Given the description of an element on the screen output the (x, y) to click on. 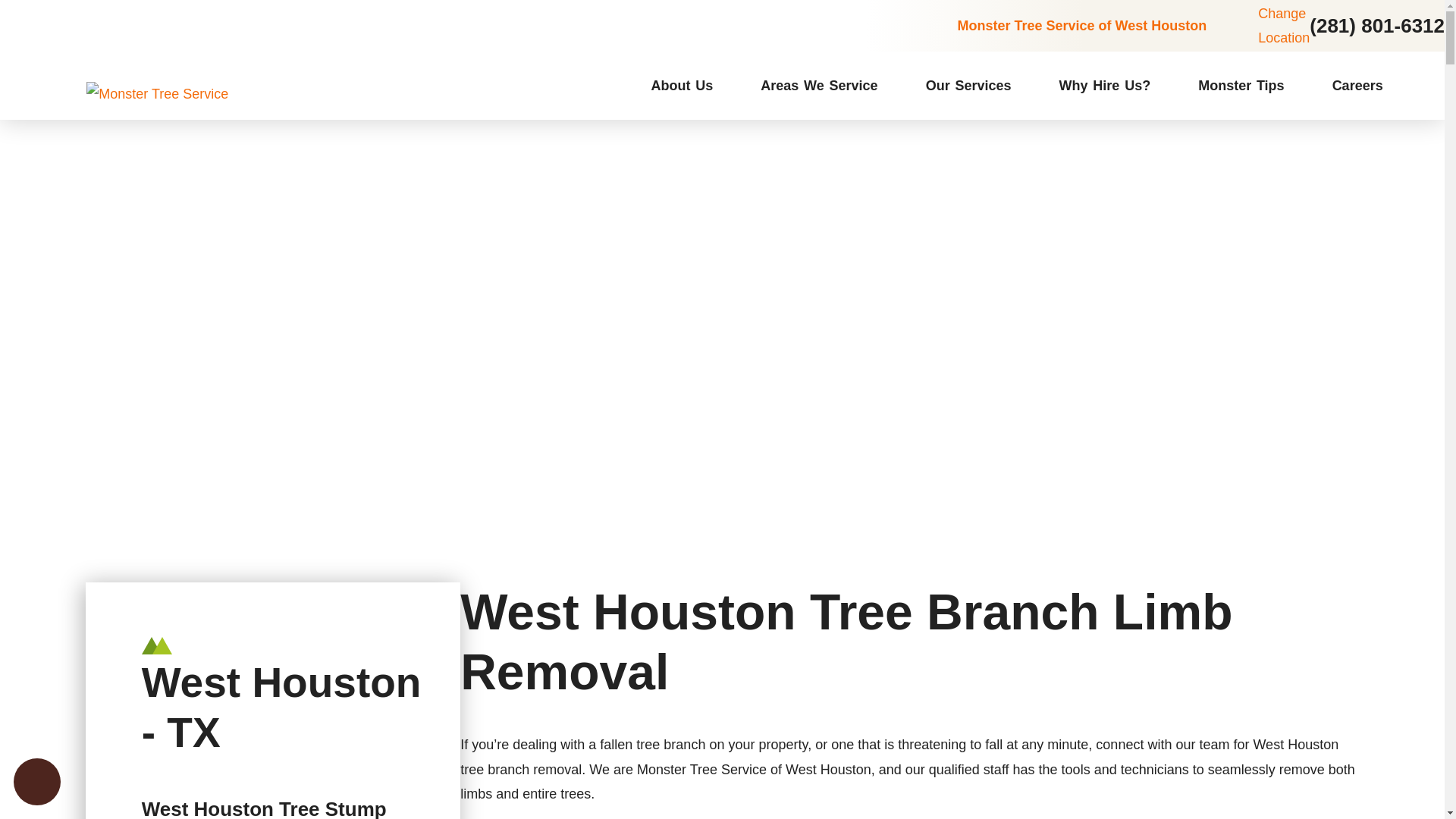
Areas We Service (818, 85)
Monster Tree Service of West Houston (1081, 25)
Open the accessibility options menu (37, 781)
Change Location (1257, 25)
Monster Tree Service (199, 93)
About Us (681, 85)
